Given the description of an element on the screen output the (x, y) to click on. 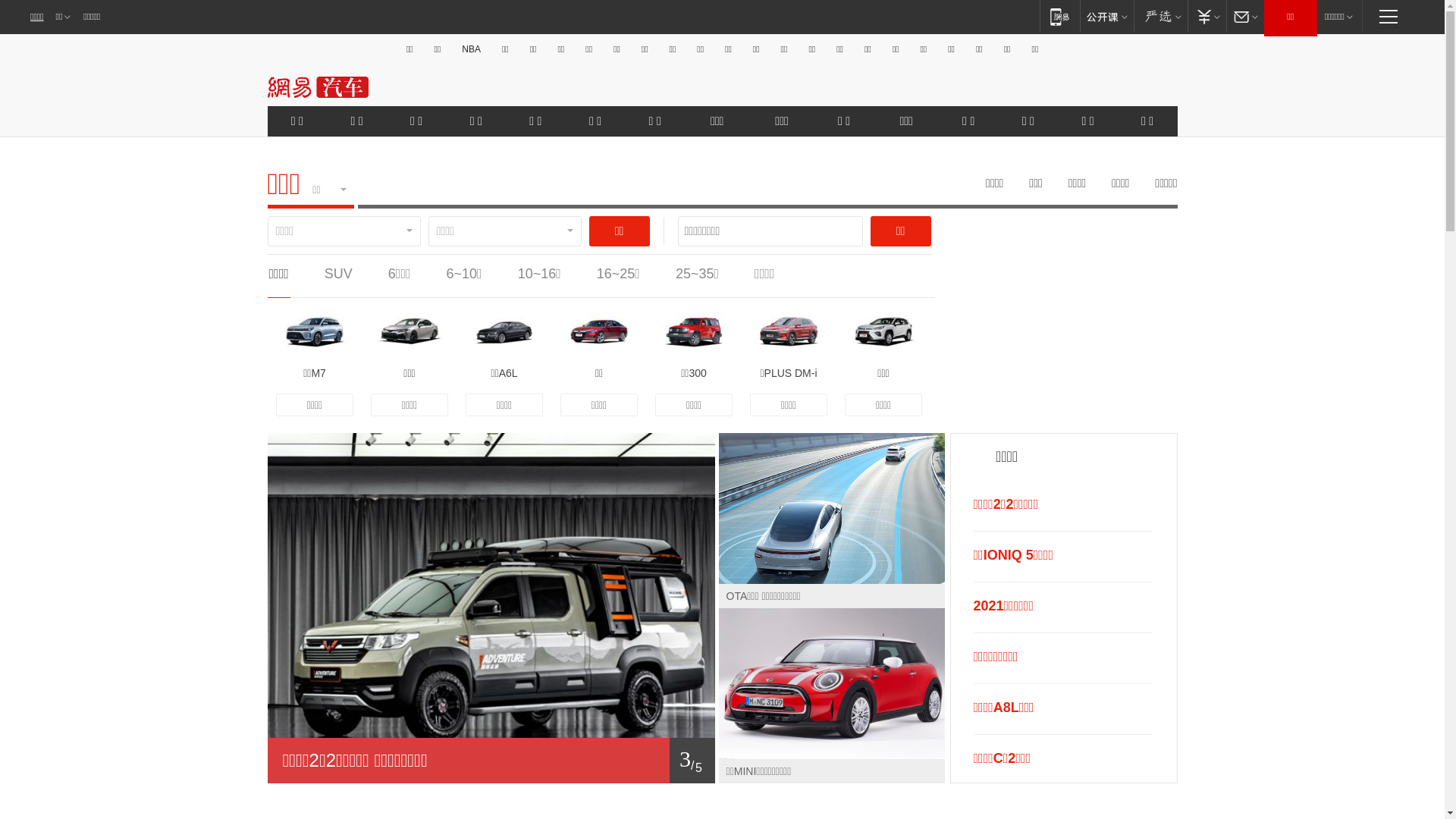
1/ 5 Element type: text (490, 760)
SUV Element type: text (338, 273)
NBA Element type: text (471, 48)
